Given the description of an element on the screen output the (x, y) to click on. 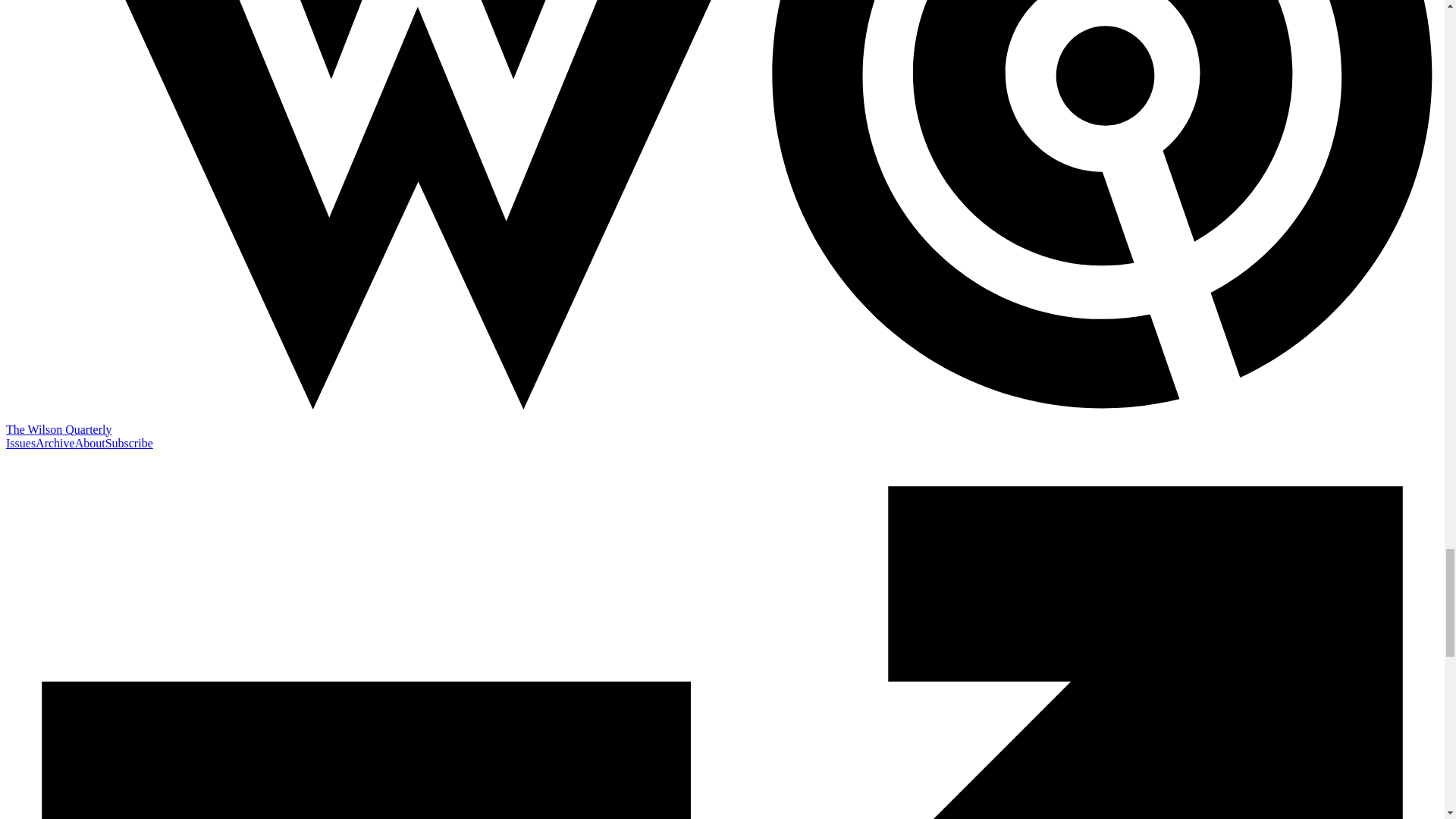
About (89, 442)
Issues (19, 442)
Archive (54, 442)
